Given the description of an element on the screen output the (x, y) to click on. 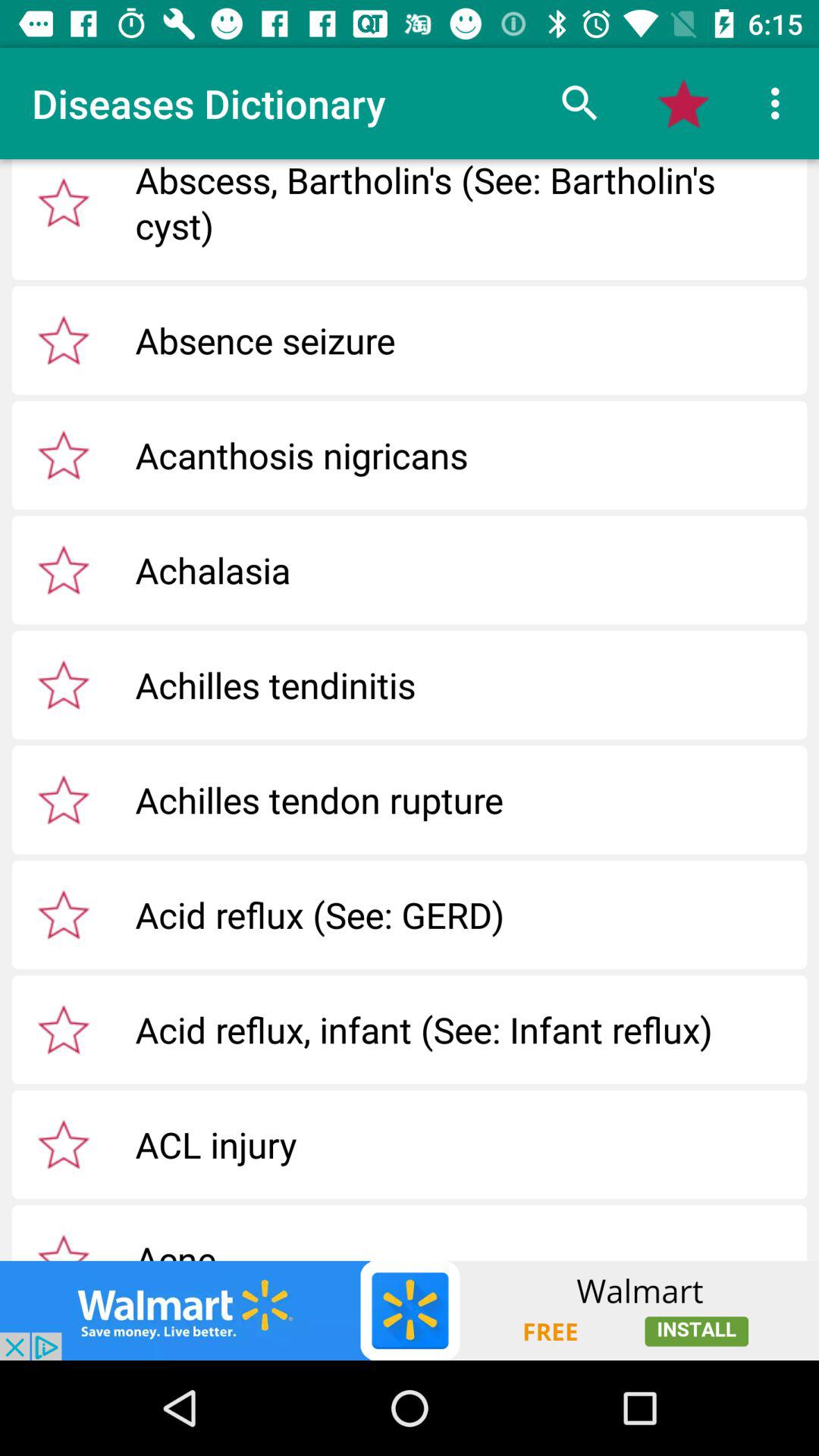
click star to favorite (63, 454)
